Given the description of an element on the screen output the (x, y) to click on. 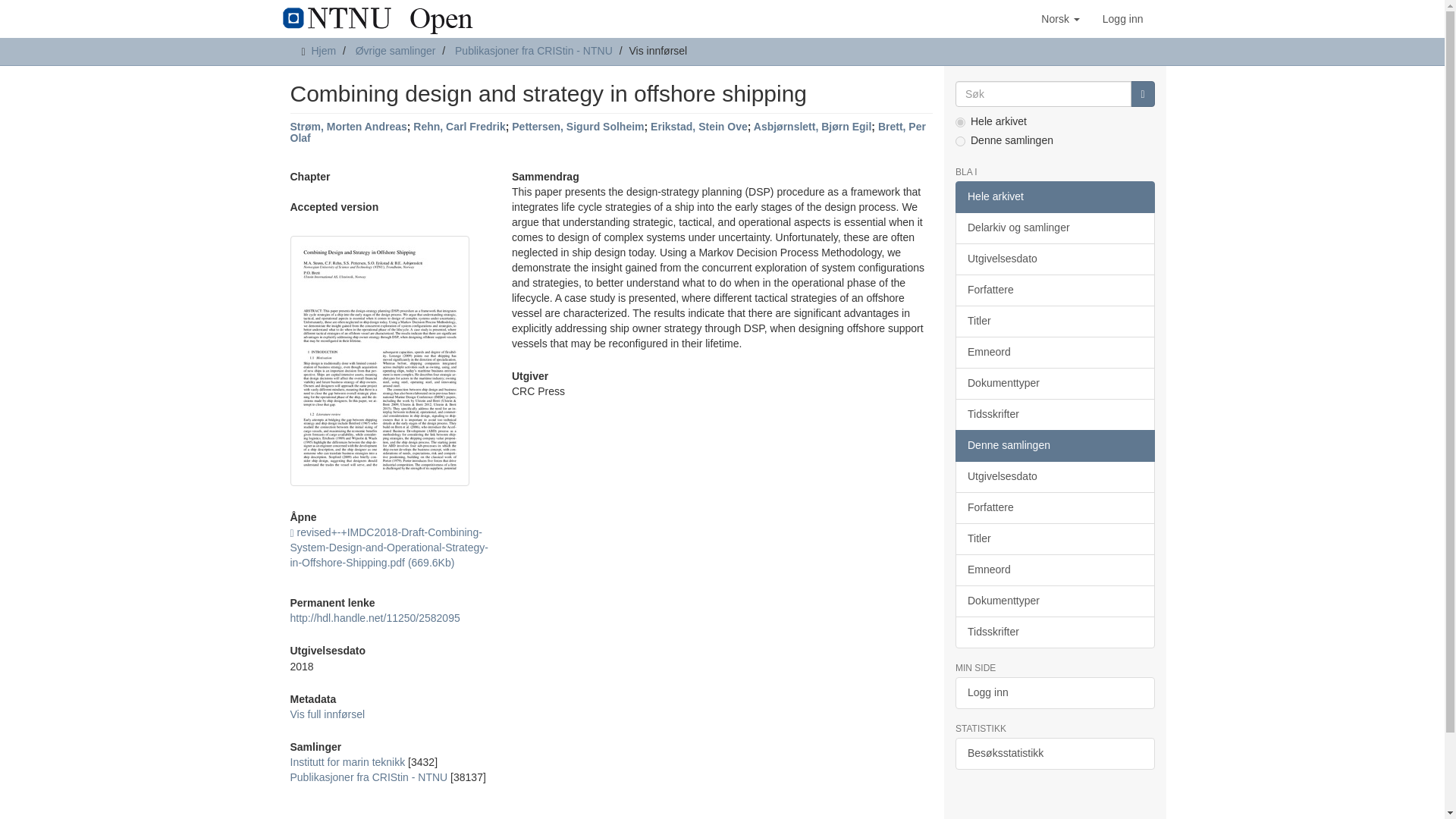
Delarkiv og samlinger (1054, 228)
Brett, Per Olaf (606, 132)
Erikstad, Stein Ove (699, 126)
Logg inn (1122, 18)
Norsk  (1059, 18)
Pettersen, Sigurd Solheim (577, 126)
Rehn, Carl Fredrik (459, 126)
Hjem (323, 50)
Publikasjoner fra CRIStin - NTNU (533, 50)
Hele arkivet (1054, 196)
Institutt for marin teknikk (346, 761)
Publikasjoner fra CRIStin - NTNU (367, 776)
